Given the description of an element on the screen output the (x, y) to click on. 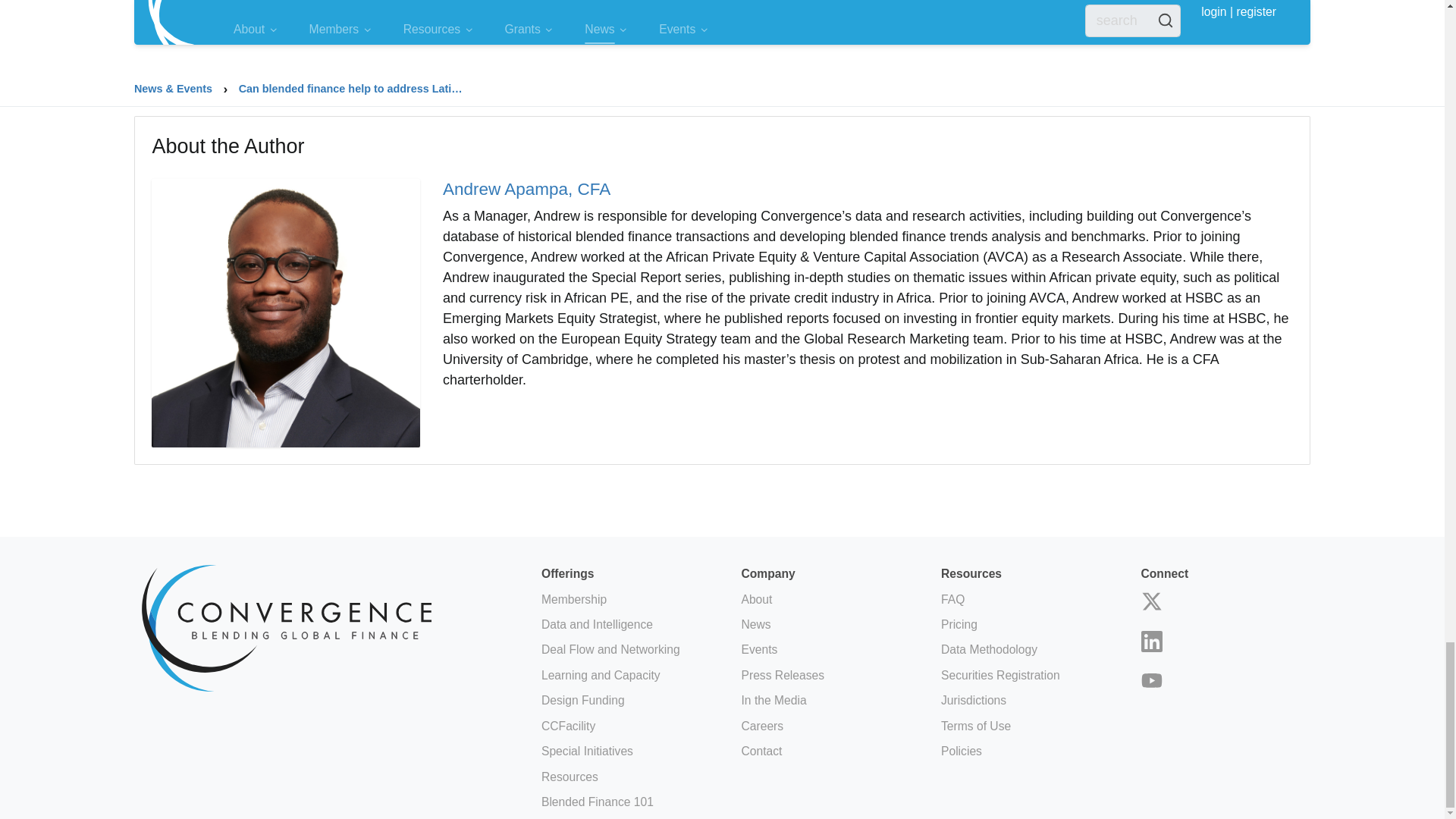
Learning and Capacity (601, 675)
Andrew Apampa, CFA (526, 189)
Events (759, 649)
Membership (574, 599)
Data and Intelligence (596, 624)
In the Media (773, 699)
full brief (370, 84)
Contact (761, 750)
Deal Flow and Networking (610, 649)
Deal Flow and Networking (610, 649)
Data and Intelligence (596, 624)
Blended Finance 101 (597, 801)
member (229, 84)
About (756, 599)
Design Funding (582, 699)
